Given the description of an element on the screen output the (x, y) to click on. 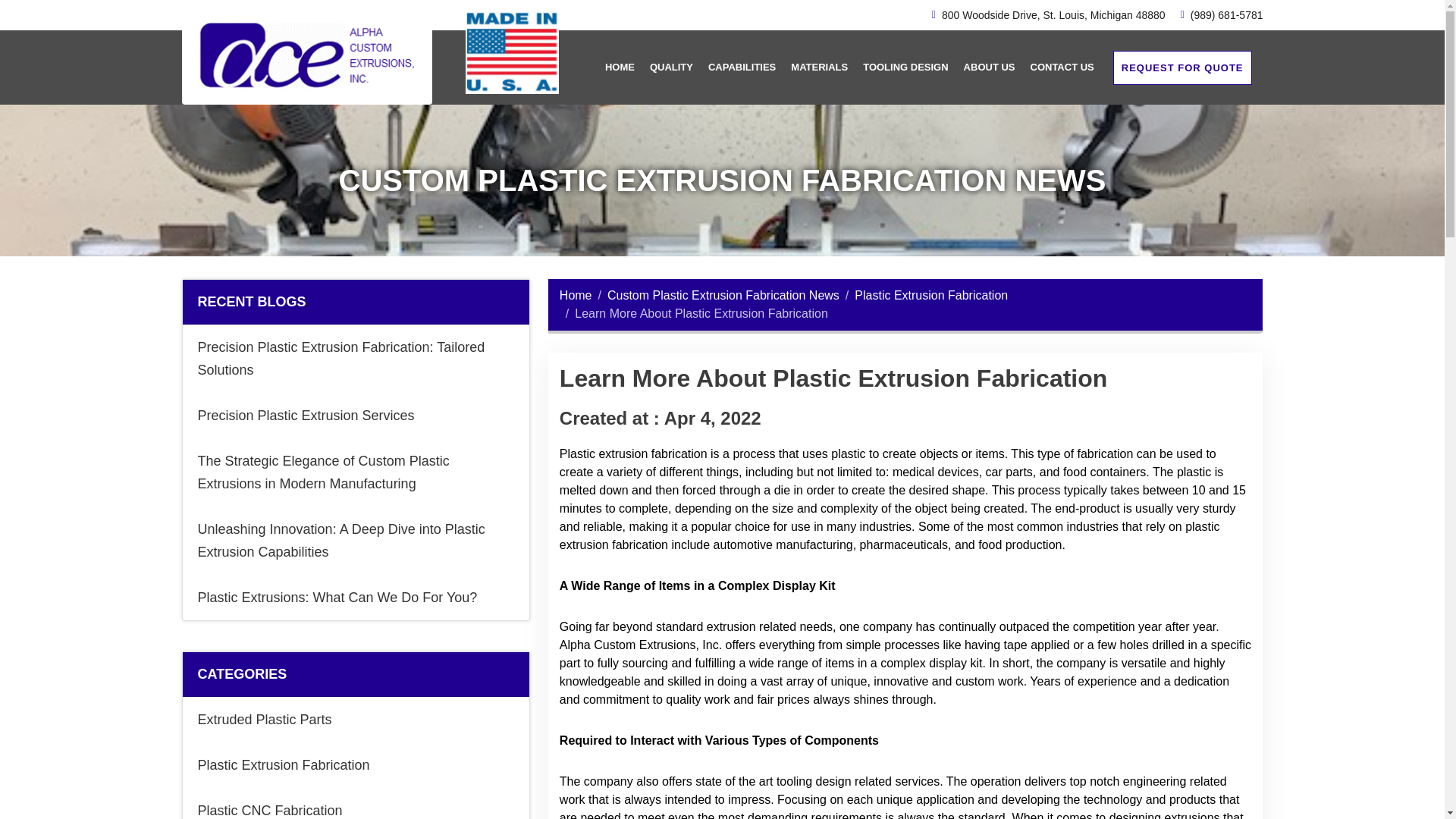
Plastic CNC Fabrication (355, 803)
Precision Plastic Extrusion Fabrication: Tailored Solutions (355, 358)
REQUEST FOR QUOTE (1182, 66)
Extruded Plastic Parts (355, 719)
CAPABILITIES (741, 67)
HOME (620, 67)
TOOLING DESIGN (905, 67)
Plastic Extrusion Fabrication (355, 764)
MATERIALS (819, 67)
ABOUT US (989, 67)
CONTACT US (1061, 67)
Plastic Extrusions: What Can We Do For You? (355, 596)
Precision Plastic Extrusion Services (355, 415)
